Given the description of an element on the screen output the (x, y) to click on. 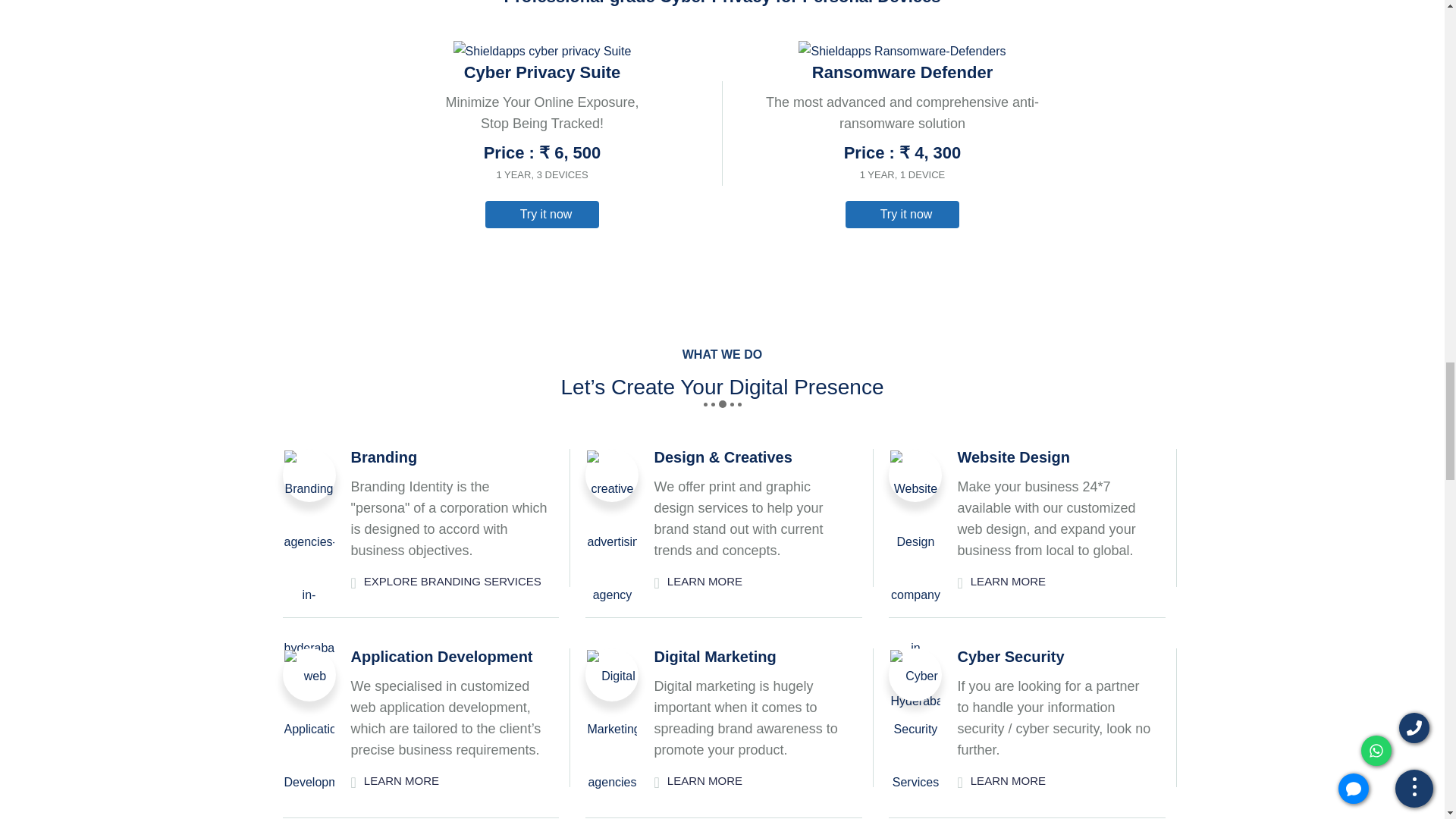
LEARN MORE (1000, 580)
LEARN MORE (697, 580)
Try it now (541, 214)
LEARN MORE (394, 780)
Try it now (902, 214)
EXPLORE BRANDING SERVICES (445, 580)
